Given the description of an element on the screen output the (x, y) to click on. 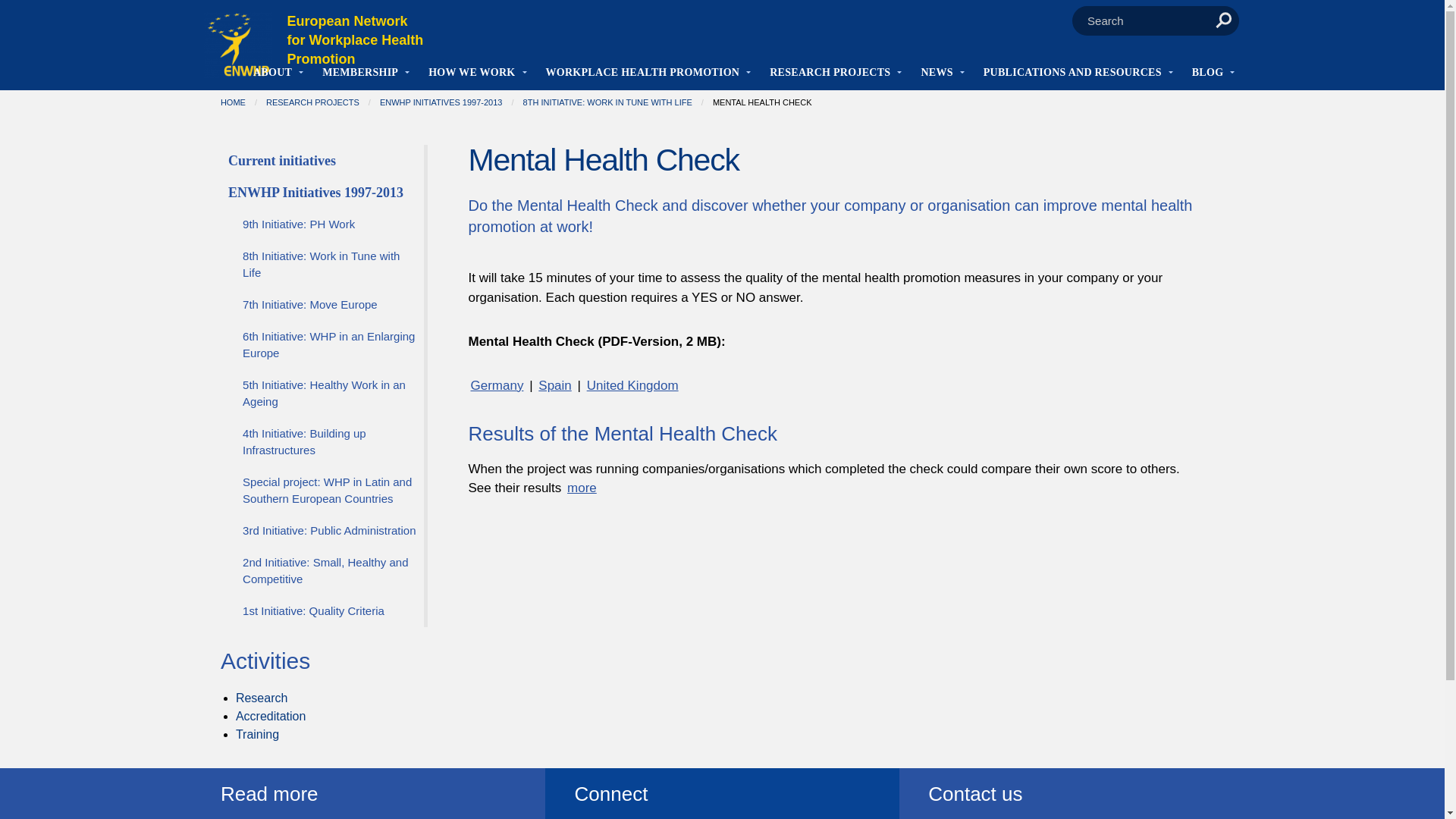
WORKPLACE HEALTH PROMOTION (643, 74)
RESEARCH PROJECTS (829, 74)
ABOUT (272, 74)
European Network for Workplace Health Promotion (354, 39)
Search (1223, 20)
Membership (360, 74)
ENWHP Divisions (471, 74)
Search (1223, 20)
MEMBERSHIP (360, 74)
